Given the description of an element on the screen output the (x, y) to click on. 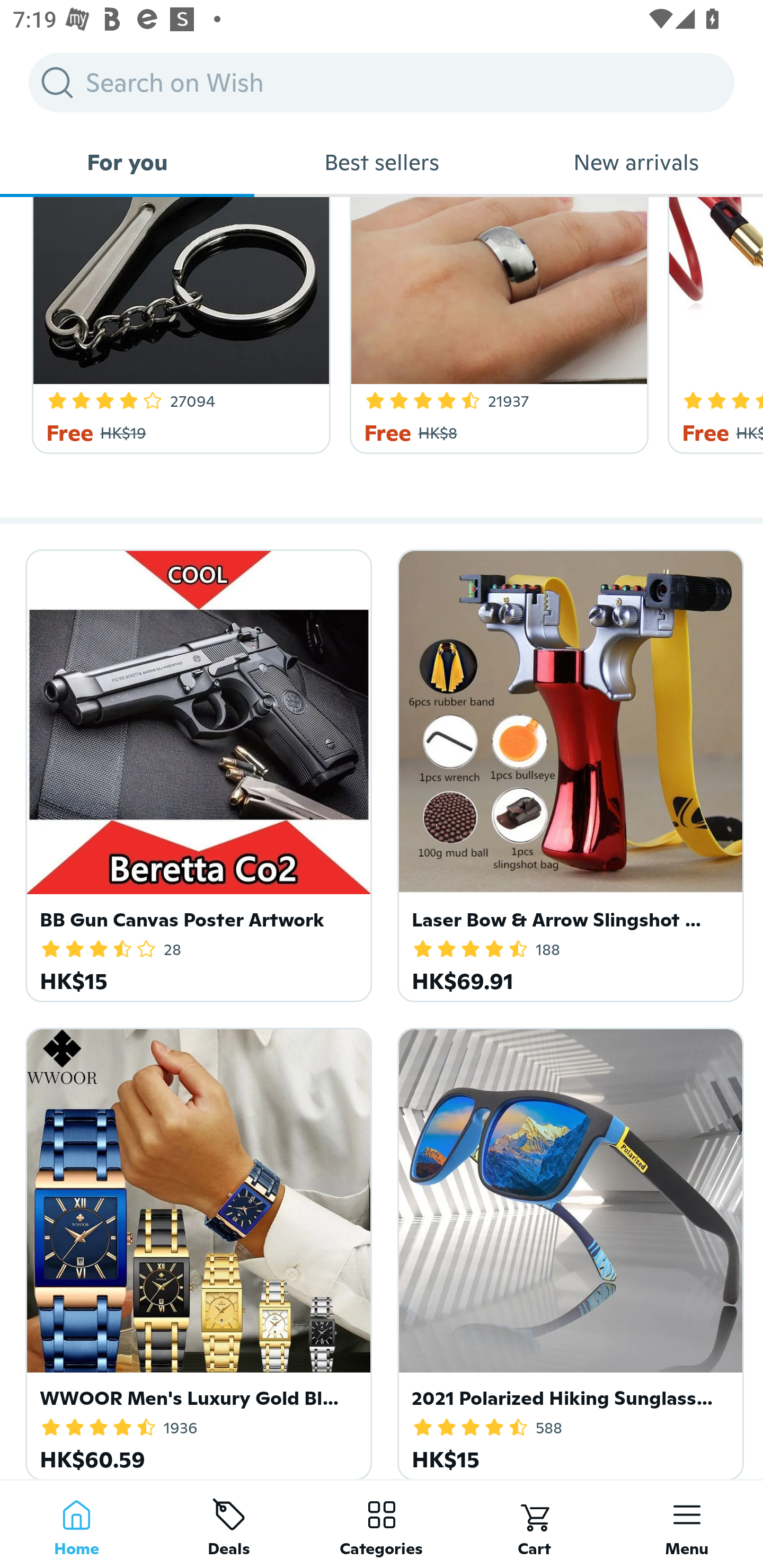
Search on Wish (381, 82)
For you (127, 161)
Best sellers (381, 161)
New arrivals (635, 161)
4 Star Rating 27094 Free HK$19 (177, 325)
4.3 Star Rating 21937 Free HK$8 (495, 325)
Home (76, 1523)
Deals (228, 1523)
Categories (381, 1523)
Cart (533, 1523)
Menu (686, 1523)
